Given the description of an element on the screen output the (x, y) to click on. 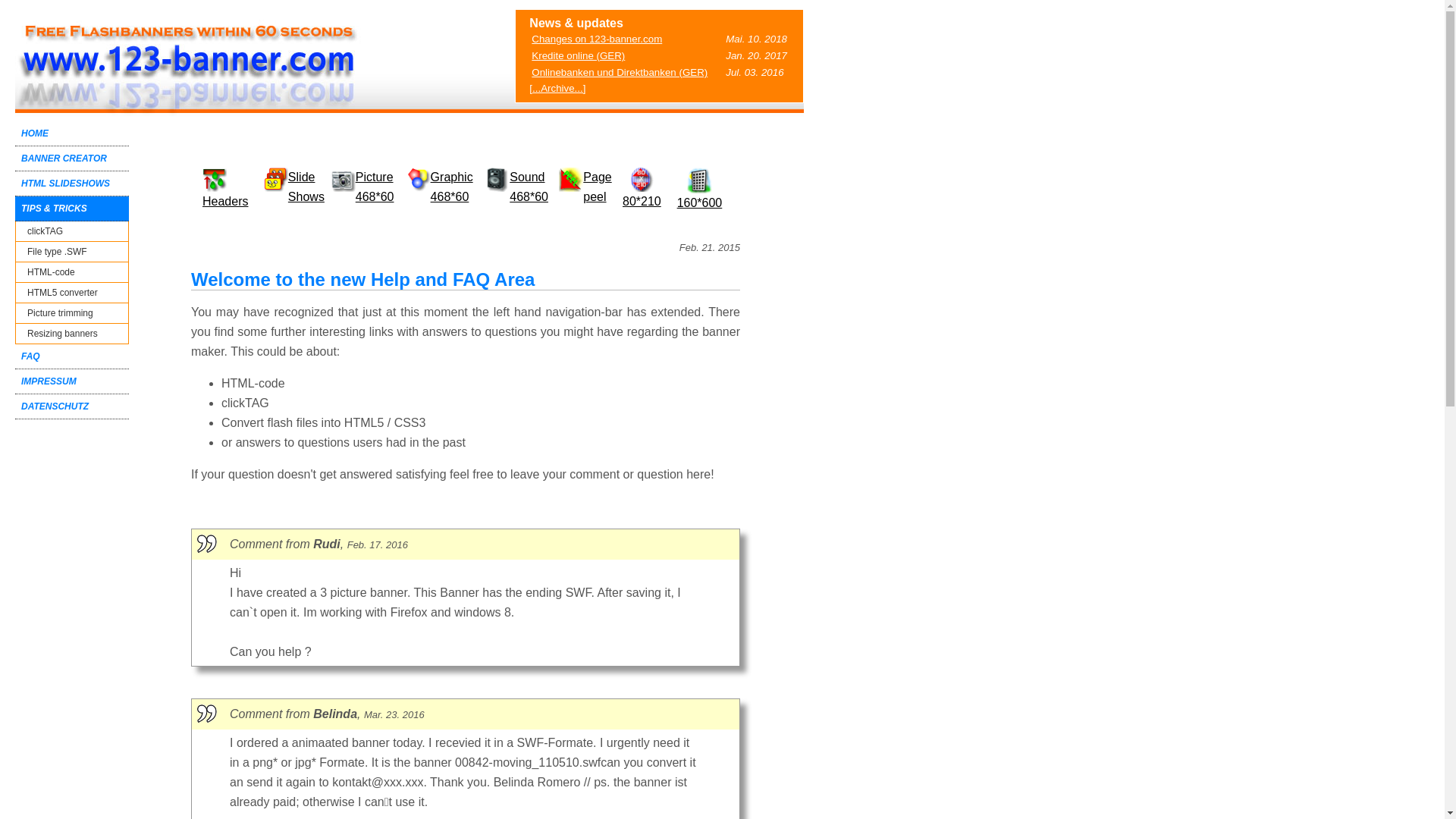
Graphic 468*60 Element type: text (451, 186)
Picture 468*60 Element type: text (374, 186)
clickTAG Element type: text (71, 231)
Picture trimming Element type: text (71, 313)
HTML-code Element type: text (71, 272)
HTML SLIDESHOWS Element type: text (71, 183)
[...Archive...] Element type: text (557, 88)
Advertisement Element type: hover (867, 237)
BANNER CREATOR Element type: text (71, 158)
Onlinebanken und Direktbanken (GER) Element type: text (619, 72)
Changes on 123-banner.com Element type: text (596, 38)
IMPRESSUM Element type: text (71, 381)
File type .SWF Element type: text (71, 251)
DATENSCHUTZ Element type: text (71, 406)
Kredite online (GER) Element type: text (577, 55)
80*210 Element type: text (641, 194)
Headers Element type: text (224, 200)
HOME Element type: text (71, 133)
Sound 468*60 Element type: text (528, 186)
160*600 Element type: text (699, 195)
Page peel Element type: text (597, 186)
Slide Shows Element type: text (306, 186)
TIPS & TRICKS Element type: text (71, 208)
HTML5 converter Element type: text (71, 292)
Resizing banners Element type: text (71, 333)
Advertisement Element type: hover (75, 482)
FAQ Element type: text (71, 356)
